Given the description of an element on the screen output the (x, y) to click on. 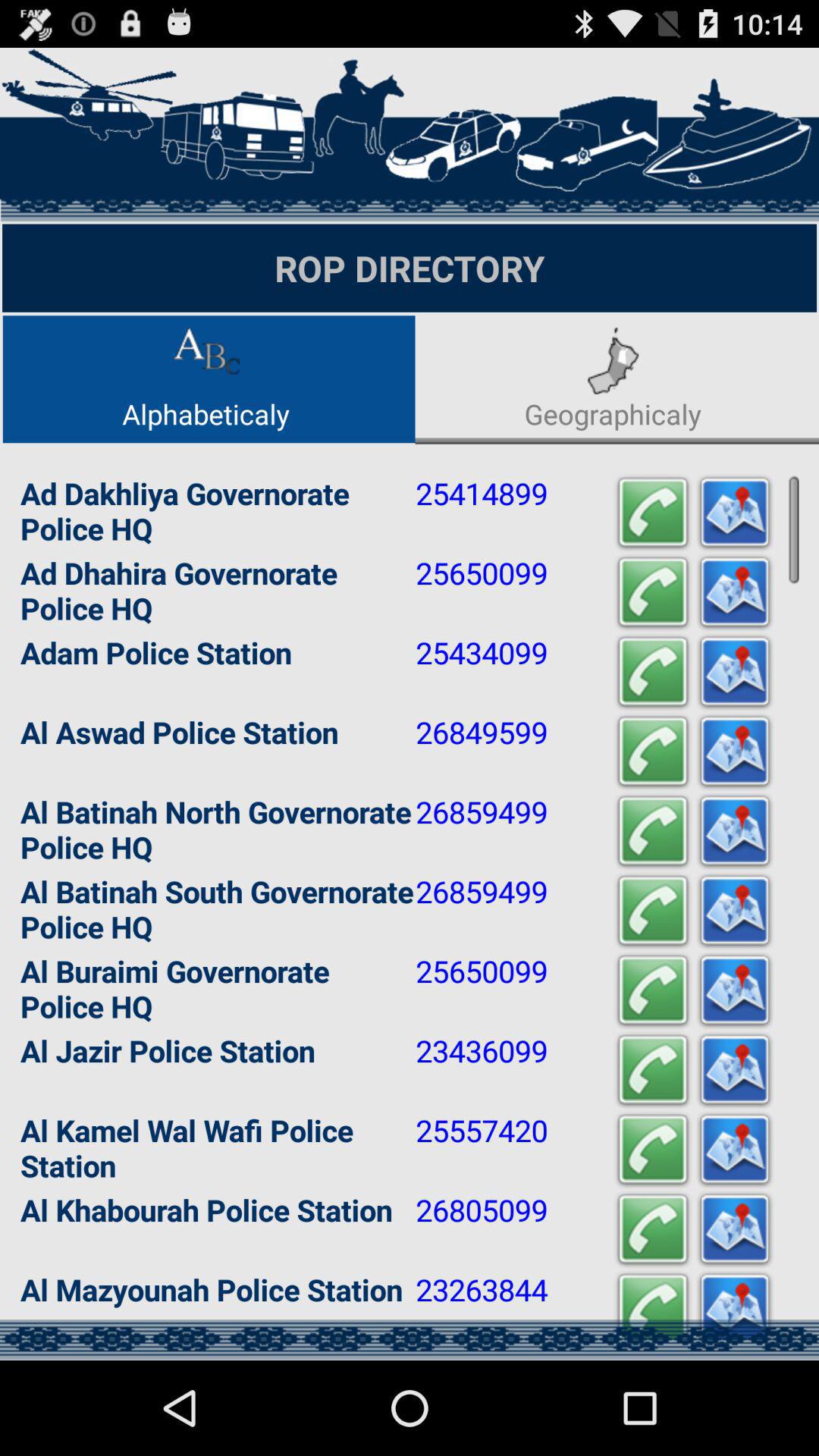
call number (652, 1229)
